Given the description of an element on the screen output the (x, y) to click on. 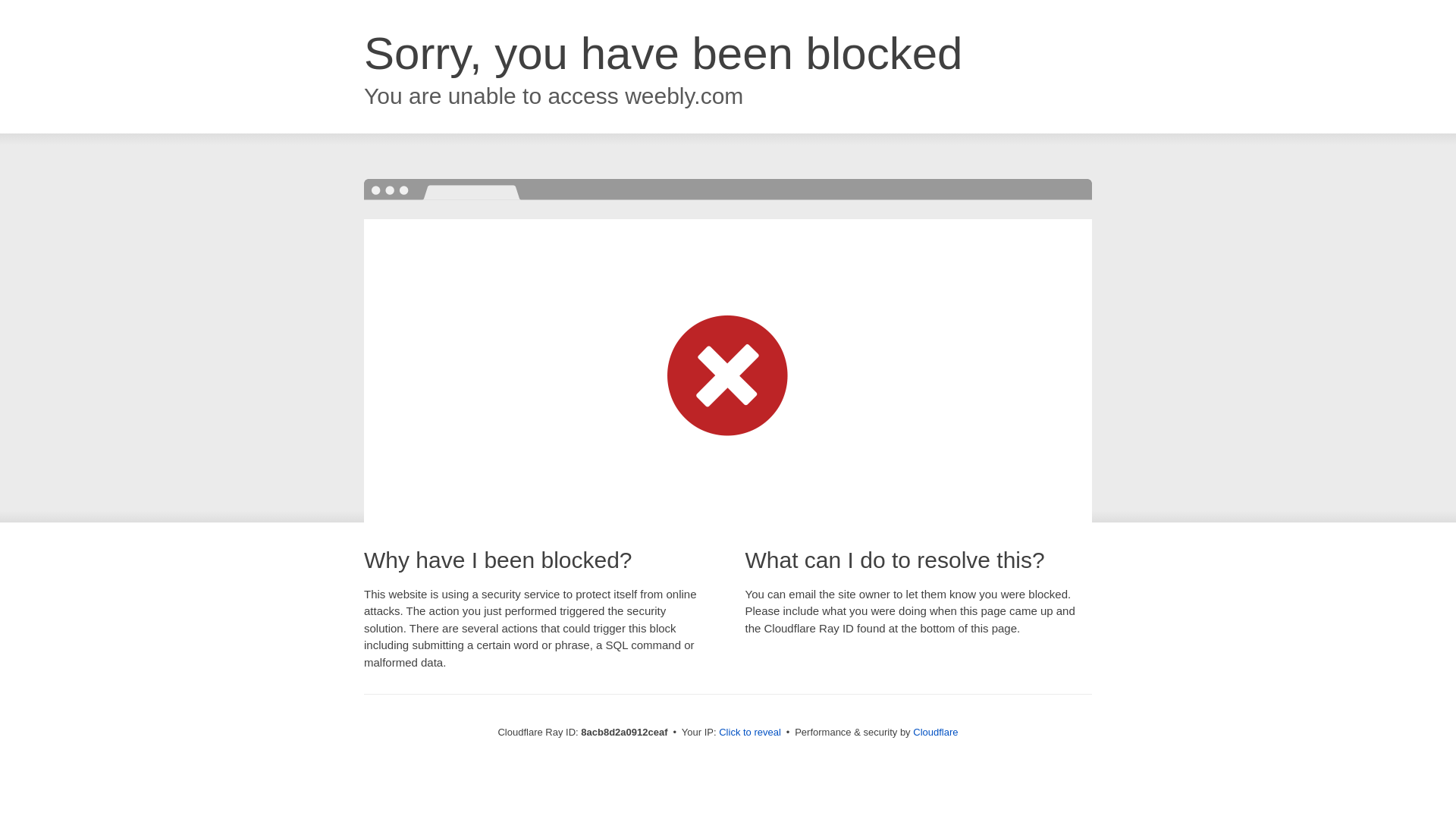
Click to reveal (749, 732)
Cloudflare (935, 731)
